Given the description of an element on the screen output the (x, y) to click on. 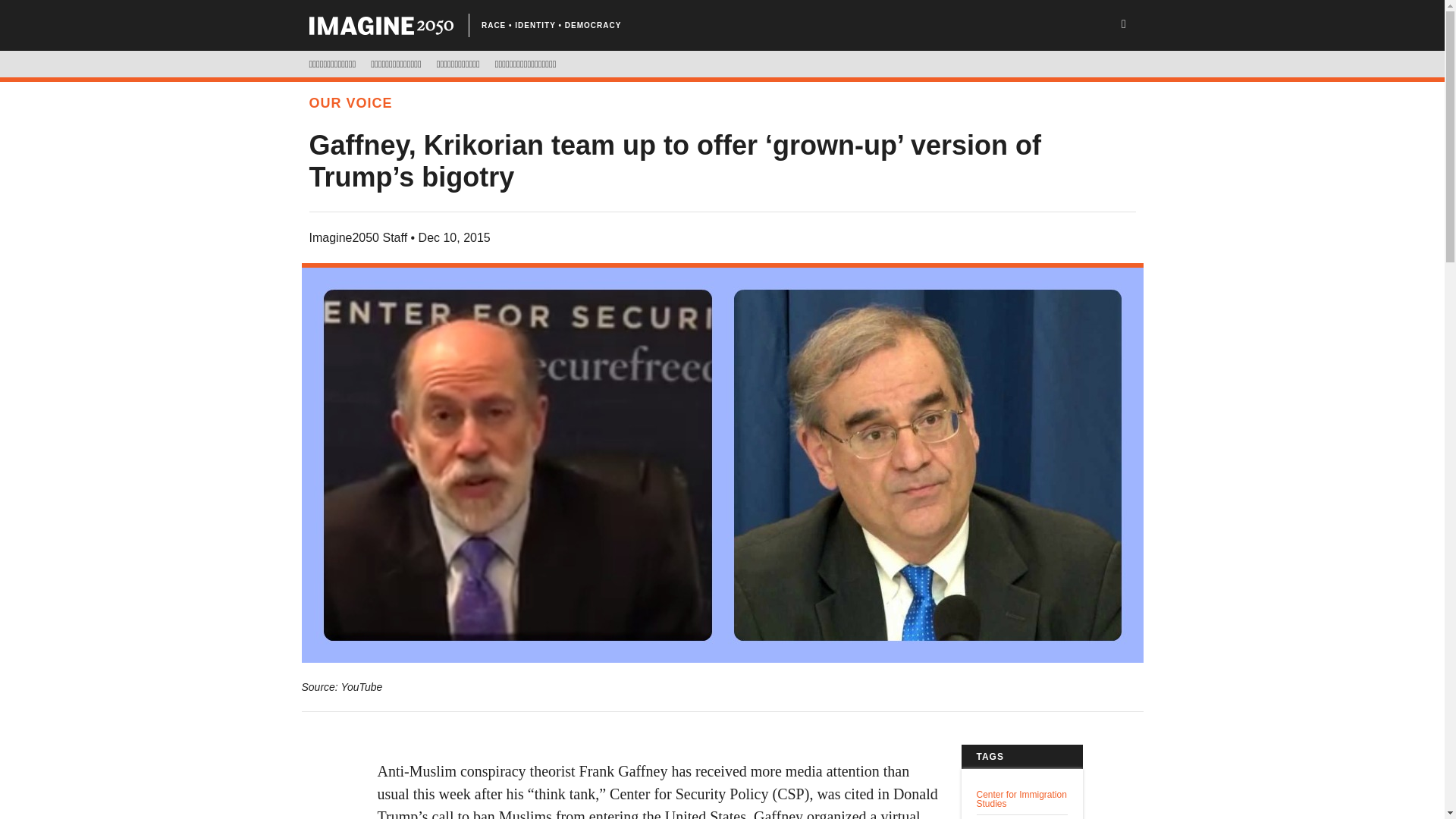
OUR VOICE (350, 102)
CNC (380, 25)
Search (60, 13)
